Given the description of an element on the screen output the (x, y) to click on. 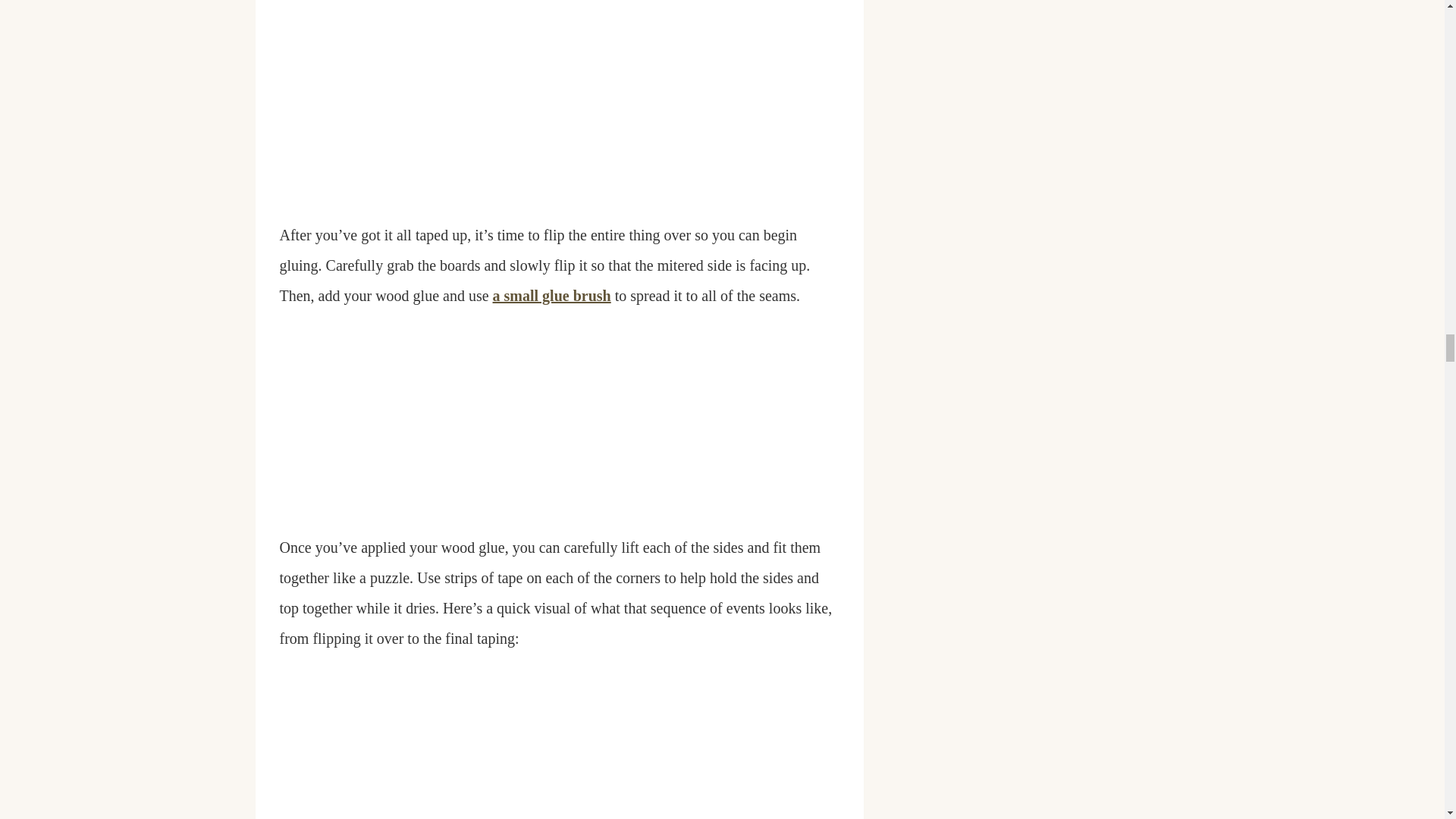
a small glue brush (552, 295)
